Given the description of an element on the screen output the (x, y) to click on. 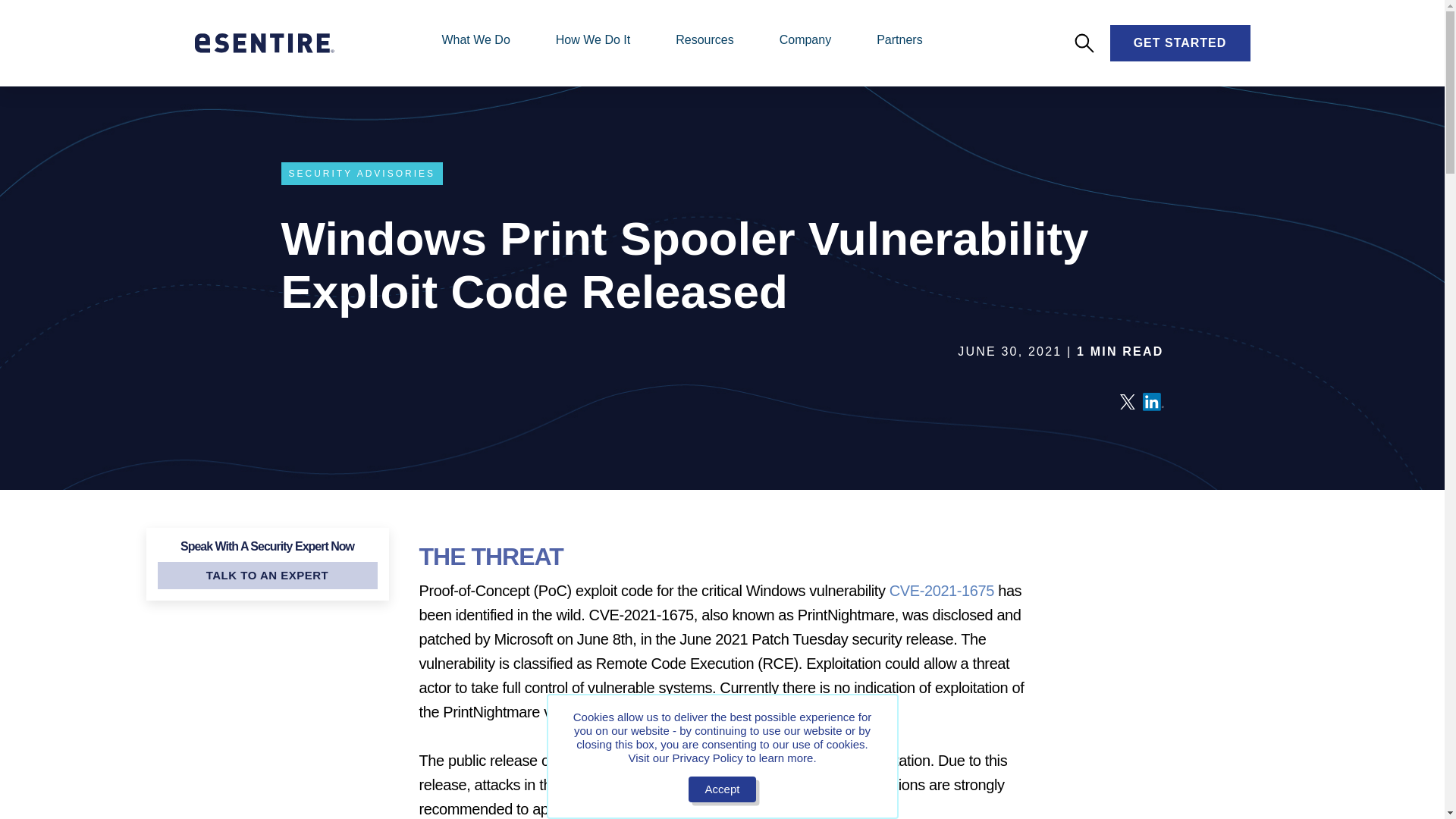
CVE-2021-1675 (941, 590)
Accept (722, 789)
Privacy Policy (706, 757)
TALK TO AN EXPERT (267, 575)
